Given the description of an element on the screen output the (x, y) to click on. 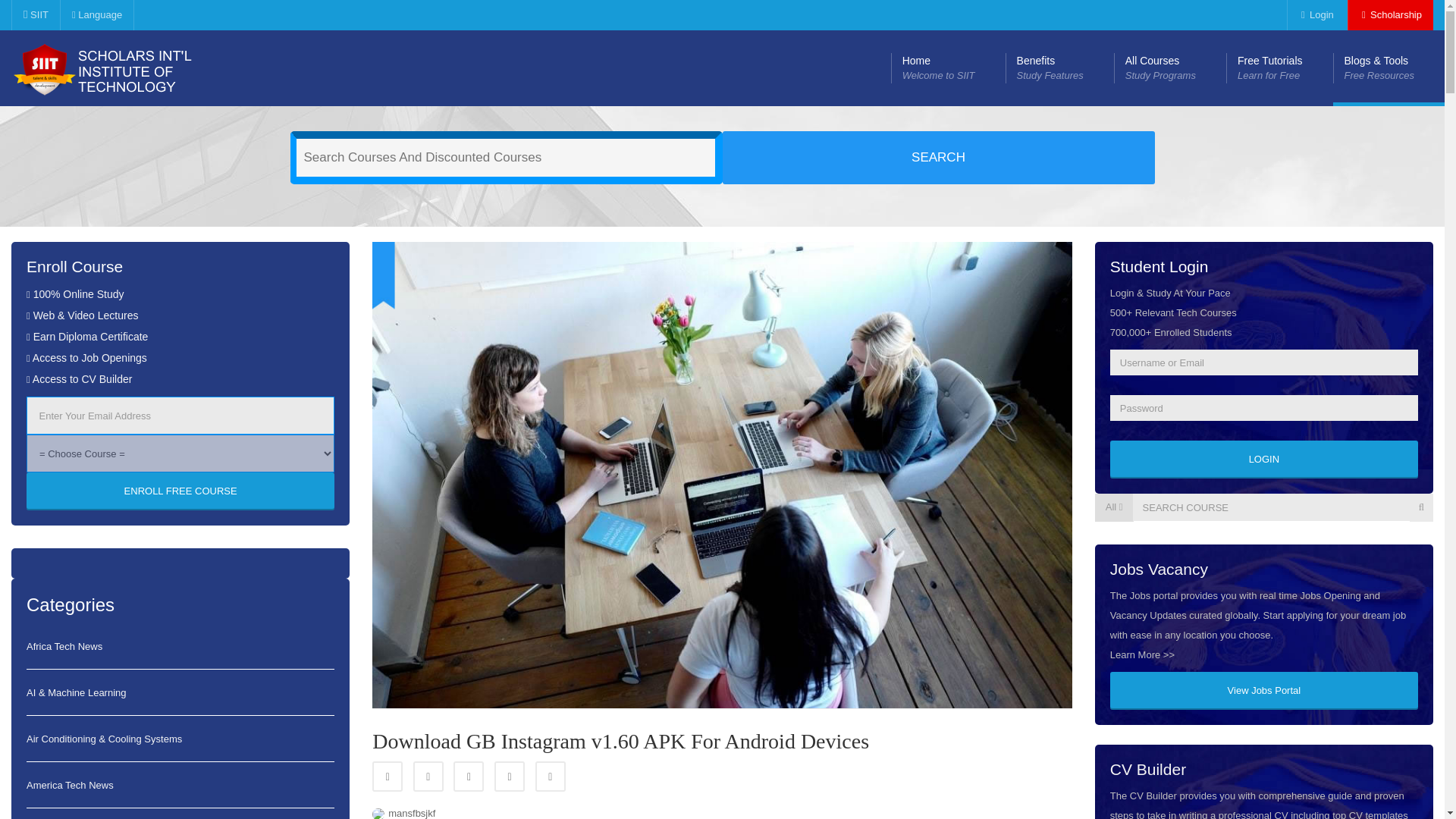
Portal Login (1315, 15)
View Jobs Portal (1263, 690)
Email this (550, 776)
 LOGIN  (948, 68)
Pin this (1263, 459)
ENROLL FREE COURSE (1169, 68)
Language (509, 776)
Share on Facebook (180, 491)
Scholarship (96, 15)
SIIT (1279, 68)
Share on Twitter (387, 776)
SIIT - Scholars International Institute Of Technology (1390, 15)
